Given the description of an element on the screen output the (x, y) to click on. 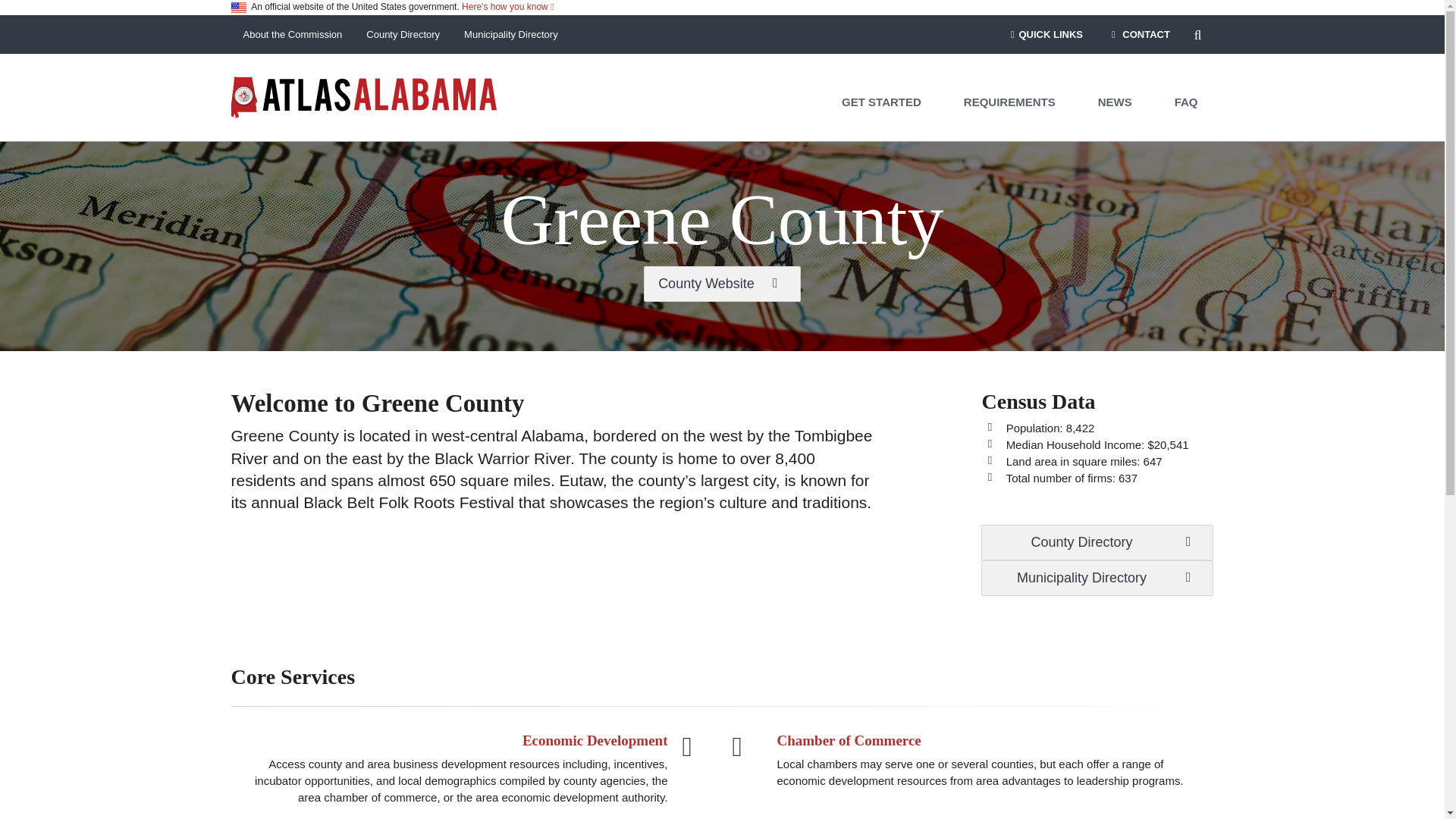
Atlas Alabama (363, 96)
County Directory (1096, 542)
CONTACT (1138, 34)
Atlas Alabama (363, 96)
County Website (721, 284)
Get Started (882, 102)
REQUIREMENTS (1010, 102)
Economic Development (595, 740)
QUICK LINKS (1044, 34)
FAQ (1186, 102)
Municipality Directory (510, 34)
NEWS (1115, 102)
Requirements (1010, 102)
Search (1198, 34)
SEARCH (1198, 34)
